Given the description of an element on the screen output the (x, y) to click on. 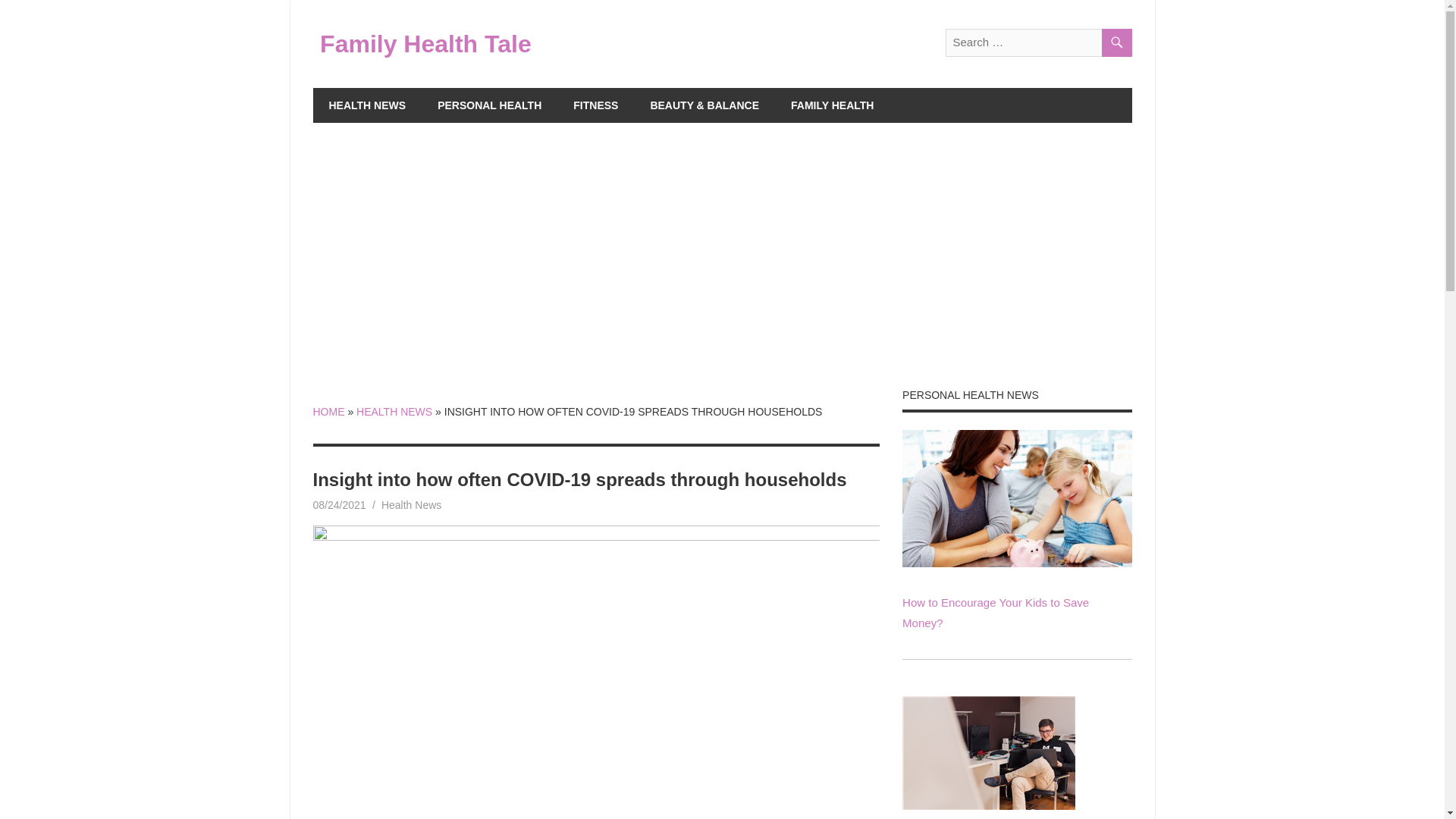
View all posts by mediabest (403, 504)
HEALTH NEWS (394, 411)
PERSONAL HEALTH (489, 104)
How to Encourage Your Kids to Save Money? (1016, 497)
HEALTH NEWS (367, 104)
How to Encourage Your Kids to Save Money? (995, 612)
6:29 pm (339, 504)
Health News (411, 504)
FITNESS (595, 104)
How to Encourage Your Kids to Save Money? (1016, 562)
Family Health Tale (425, 43)
mediabest (403, 504)
Search for: (1037, 42)
HOME (328, 411)
FAMILY HEALTH (831, 104)
